Given the description of an element on the screen output the (x, y) to click on. 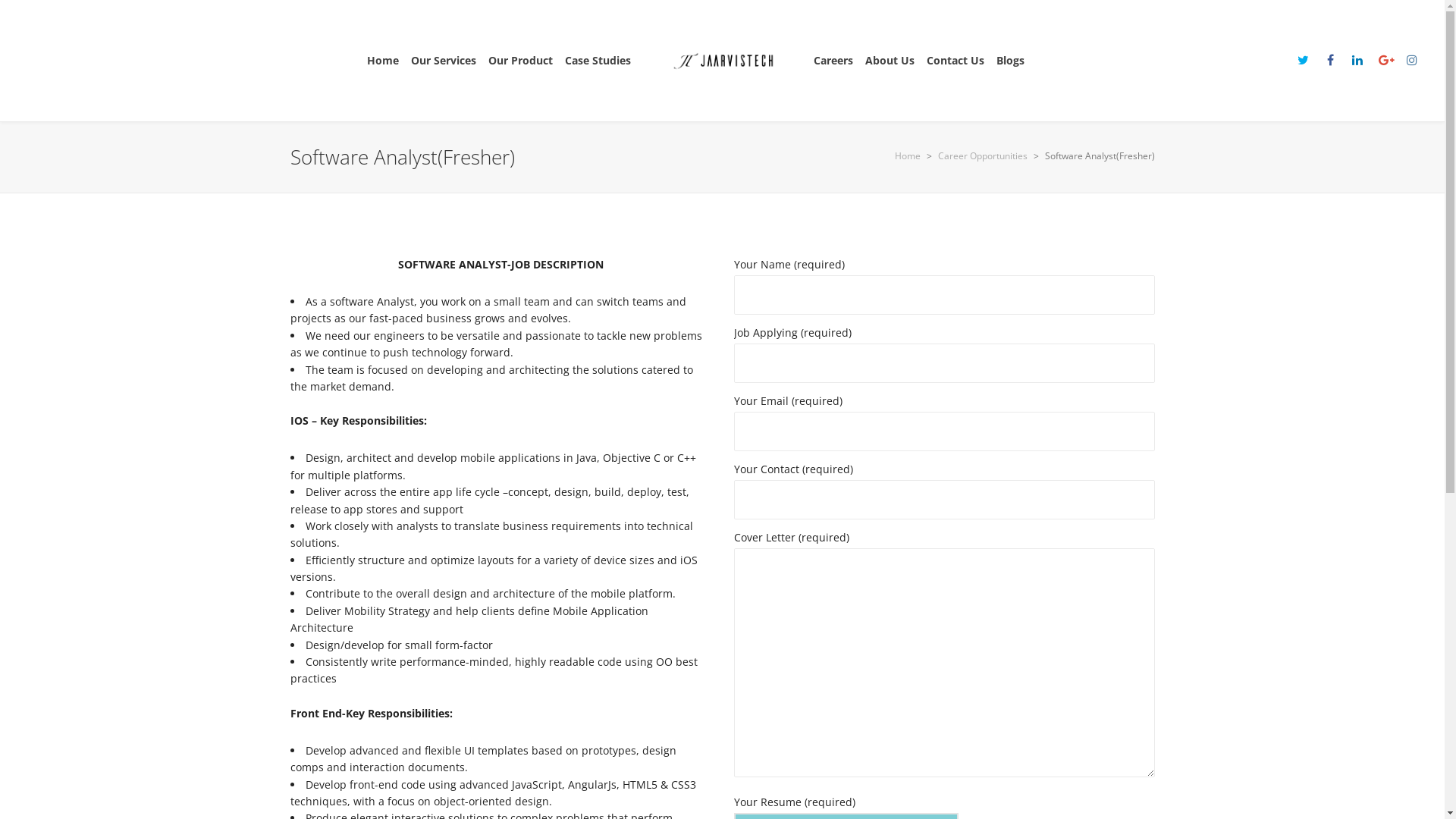
Careers Element type: text (833, 60)
Case Studies Element type: text (597, 60)
Our Services Element type: text (443, 60)
Blogs Element type: text (1010, 60)
Contact Us Element type: text (955, 60)
Our Product Element type: text (520, 60)
About Us Element type: text (889, 60)
Career Opportunities Element type: text (981, 155)
Home Element type: text (907, 155)
Home Element type: text (382, 60)
